Given the description of an element on the screen output the (x, y) to click on. 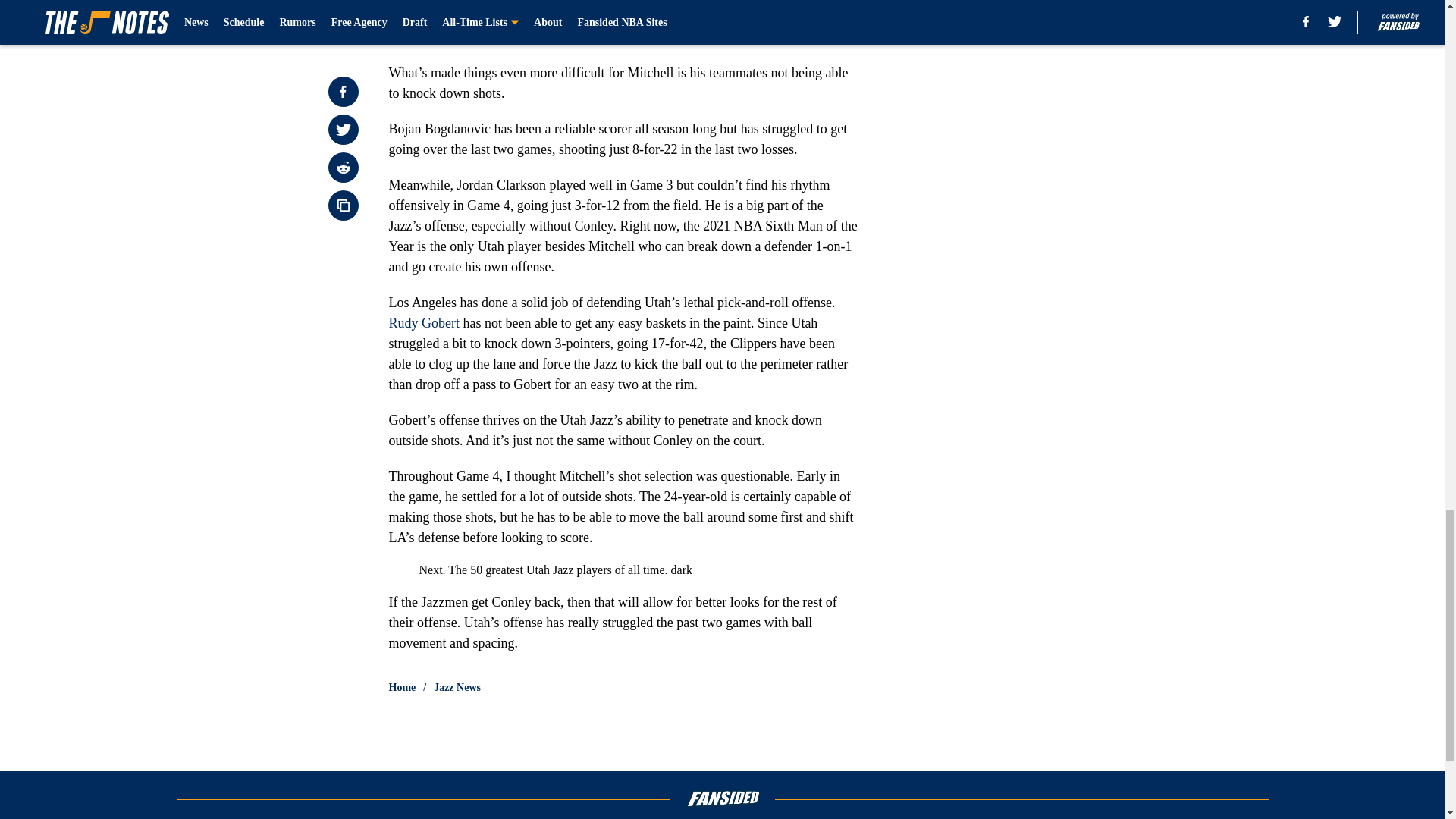
Rudy Gobert (424, 322)
Jazz News (456, 687)
Home (401, 687)
his production has been anything but easy (681, 2)
